Given the description of an element on the screen output the (x, y) to click on. 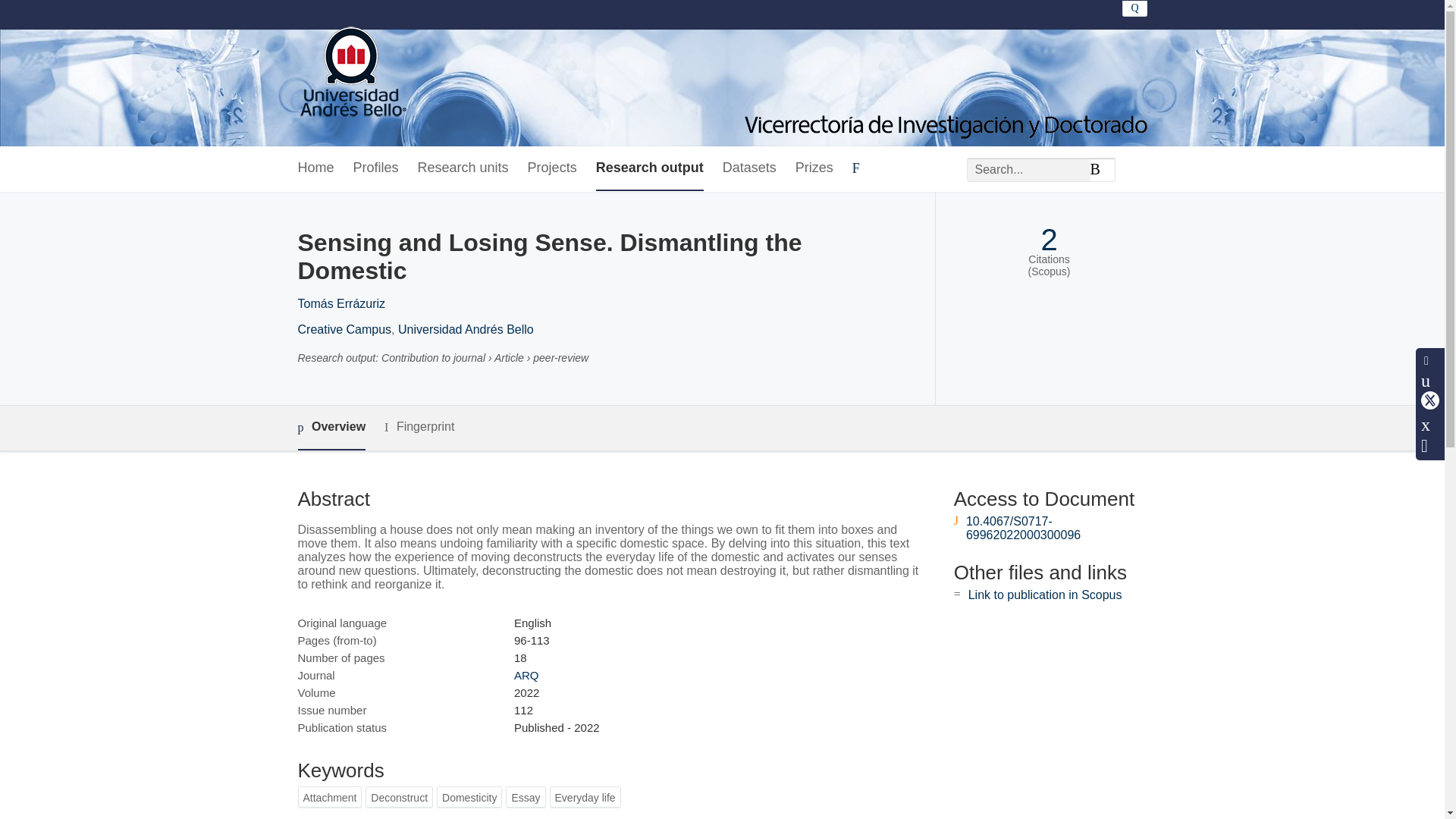
Profiles (375, 168)
ARQ (525, 675)
Research output (649, 168)
Link to publication in Scopus (1045, 594)
Fingerprint (419, 426)
Research units (462, 168)
Overview (331, 427)
Projects (551, 168)
Creative Campus (344, 328)
Datasets (749, 168)
